Given the description of an element on the screen output the (x, y) to click on. 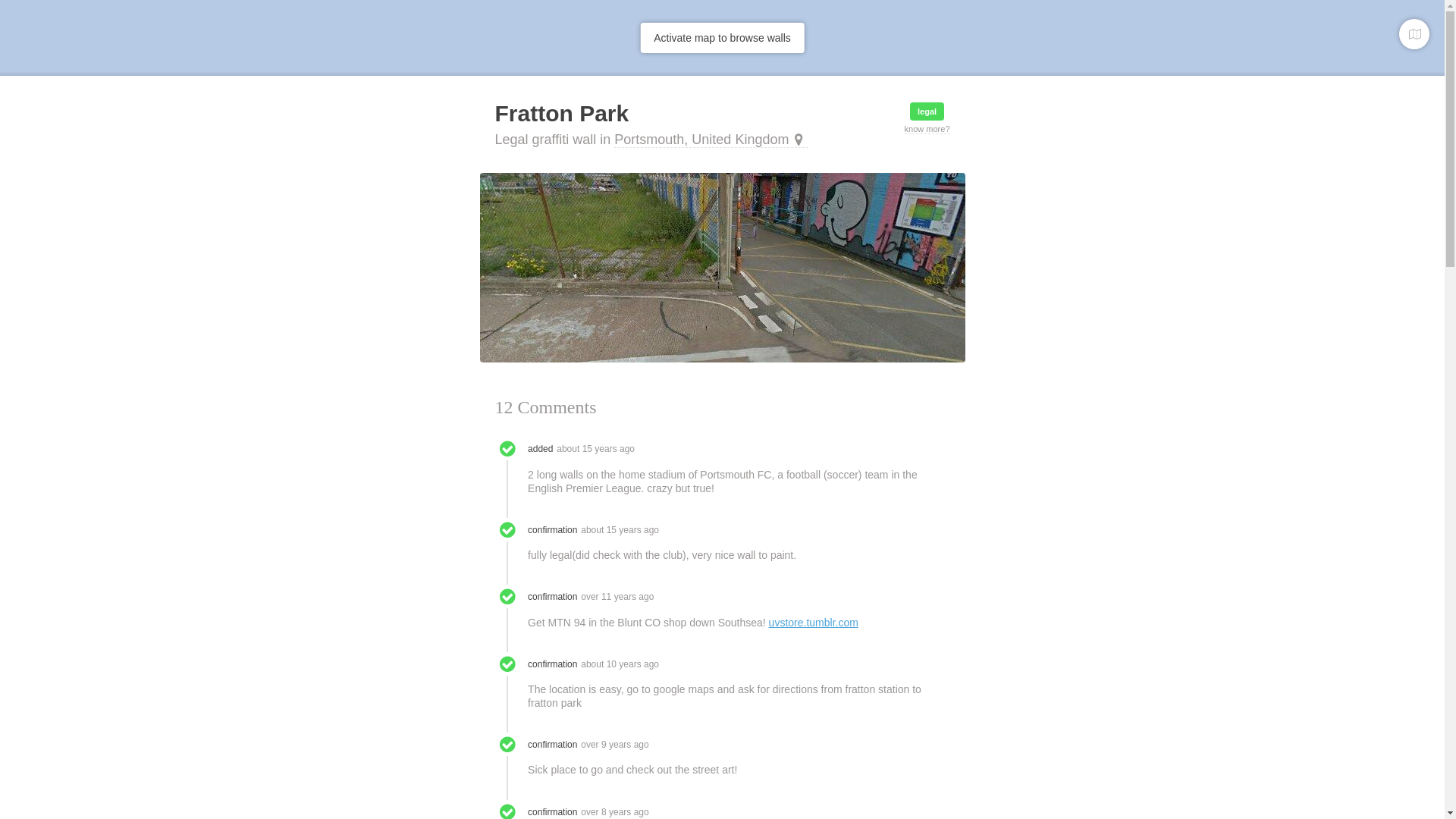
Activate map to browse walls (722, 37)
know more? (927, 129)
Portsmouth, United Kingdom (711, 139)
uvstore.tumblr.com (813, 621)
back to the map (1414, 33)
